Given the description of an element on the screen output the (x, y) to click on. 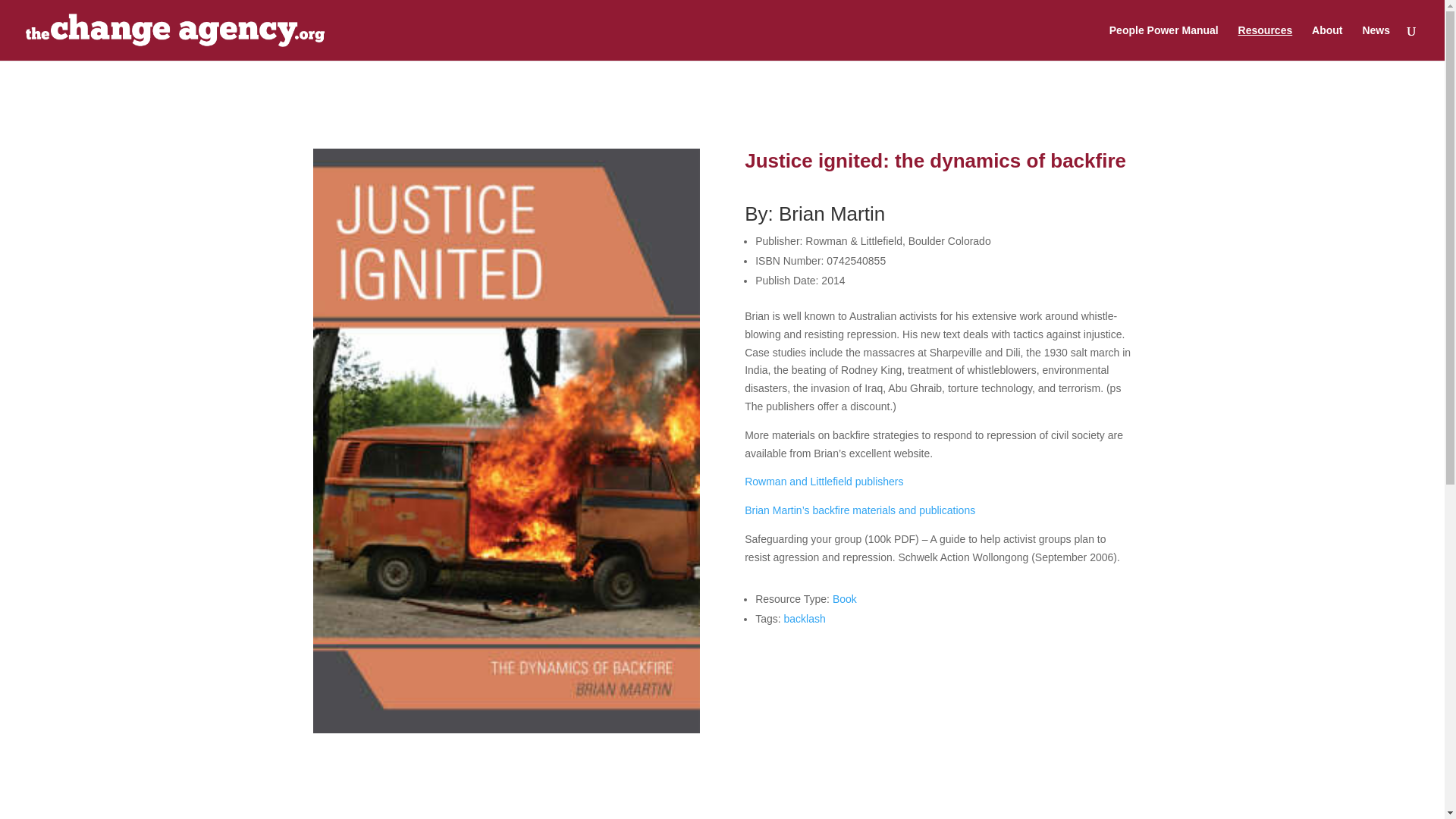
Rowman and Littlefield publishers (823, 481)
Book (844, 598)
News (1375, 42)
About (1326, 42)
People Power Manual (1163, 42)
backlash (804, 618)
Resources (1265, 42)
